Given the description of an element on the screen output the (x, y) to click on. 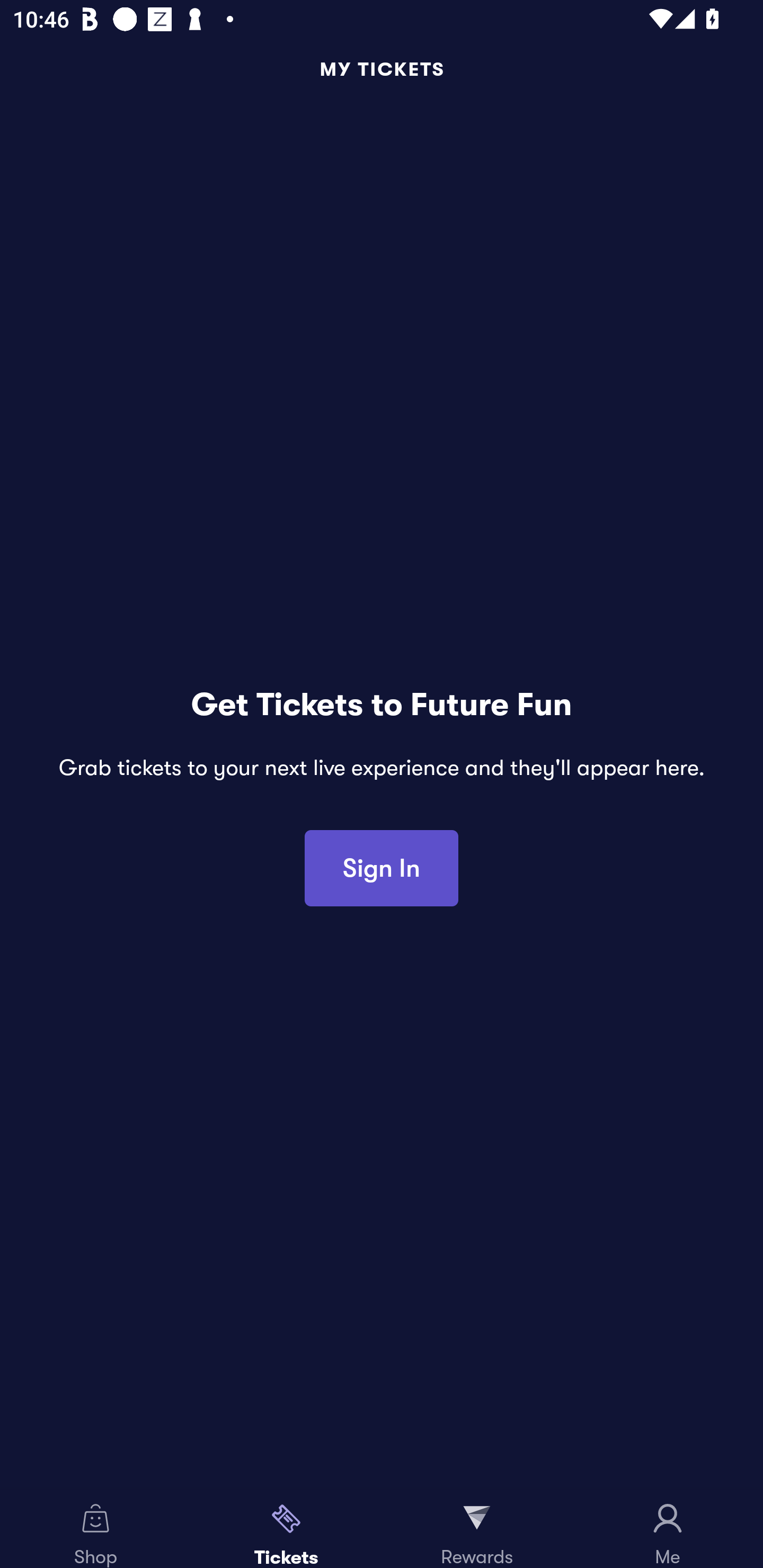
Sign In (381, 867)
Shop (95, 1529)
Tickets (285, 1529)
Rewards (476, 1529)
Me (667, 1529)
